Given the description of an element on the screen output the (x, y) to click on. 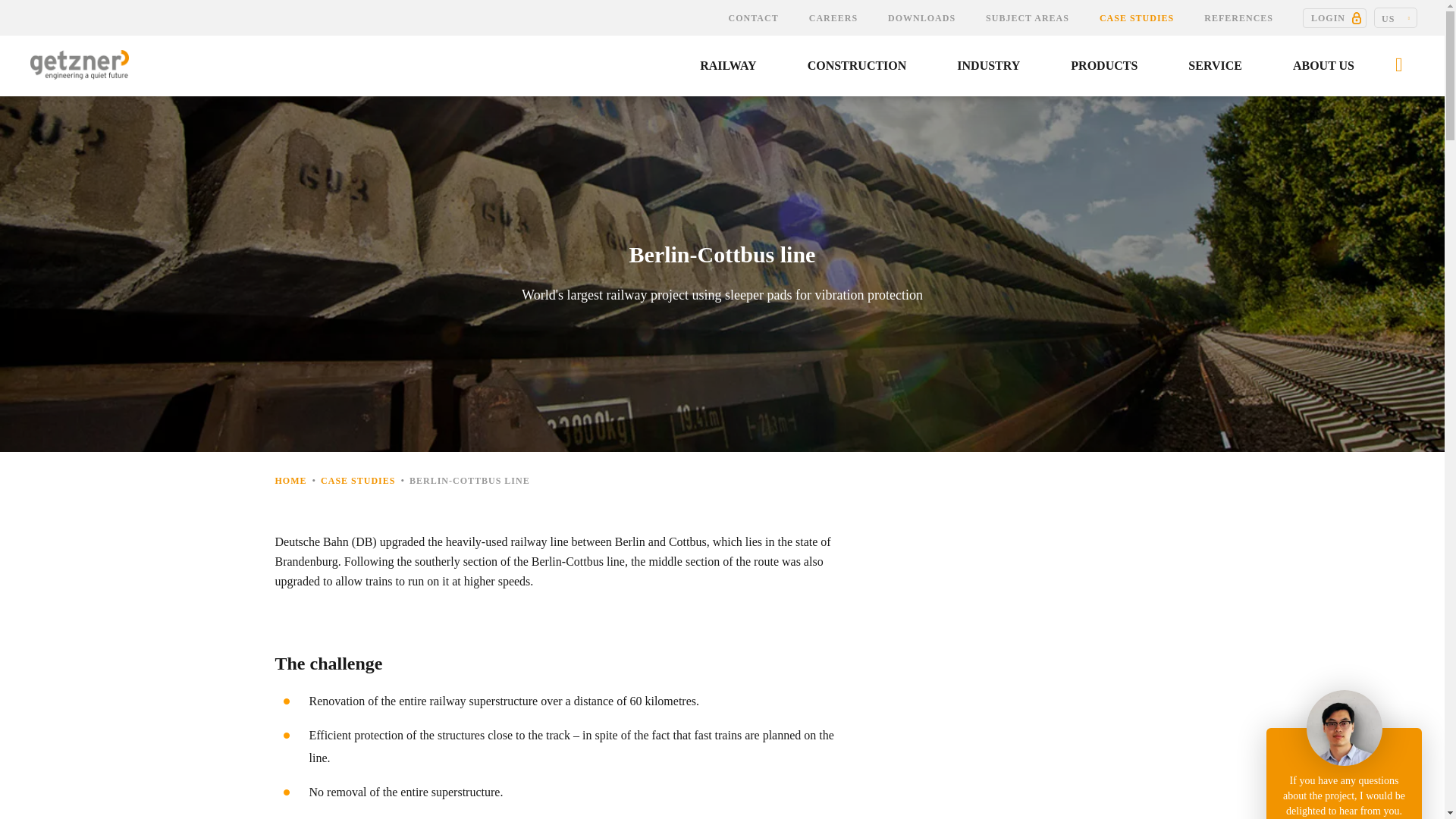
ABOUT US (1324, 66)
SUBJECT AREAS (1027, 18)
CONSTRUCTION (858, 66)
CAREERS (832, 18)
SERVICE (1215, 66)
LOGIN (1335, 17)
RAILWAY (728, 66)
CASE STUDIES (1136, 18)
PRODUCTS (1104, 66)
REFERENCES (1238, 18)
